Given the description of an element on the screen output the (x, y) to click on. 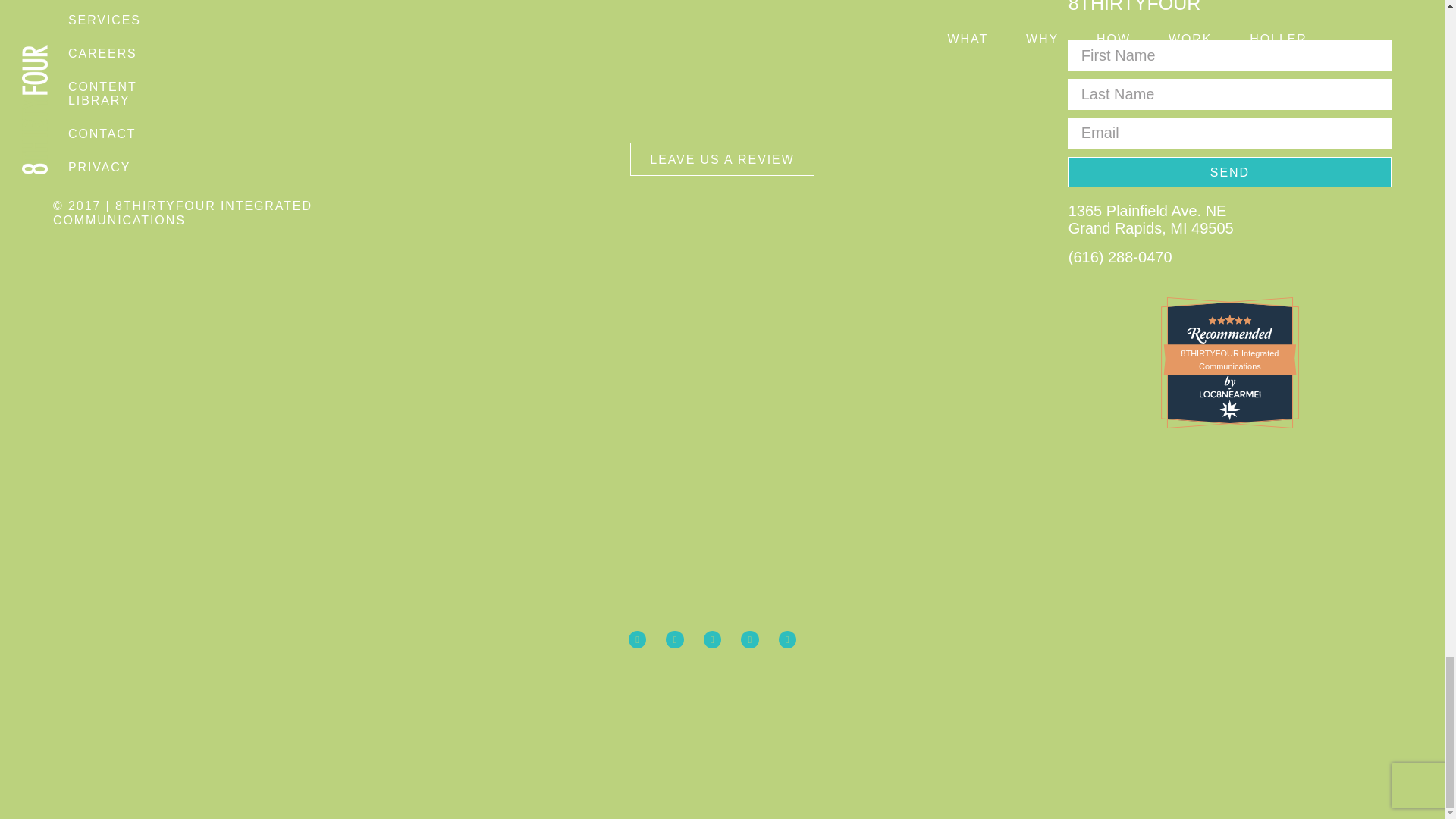
Loc8NearMe (1230, 394)
